Given the description of an element on the screen output the (x, y) to click on. 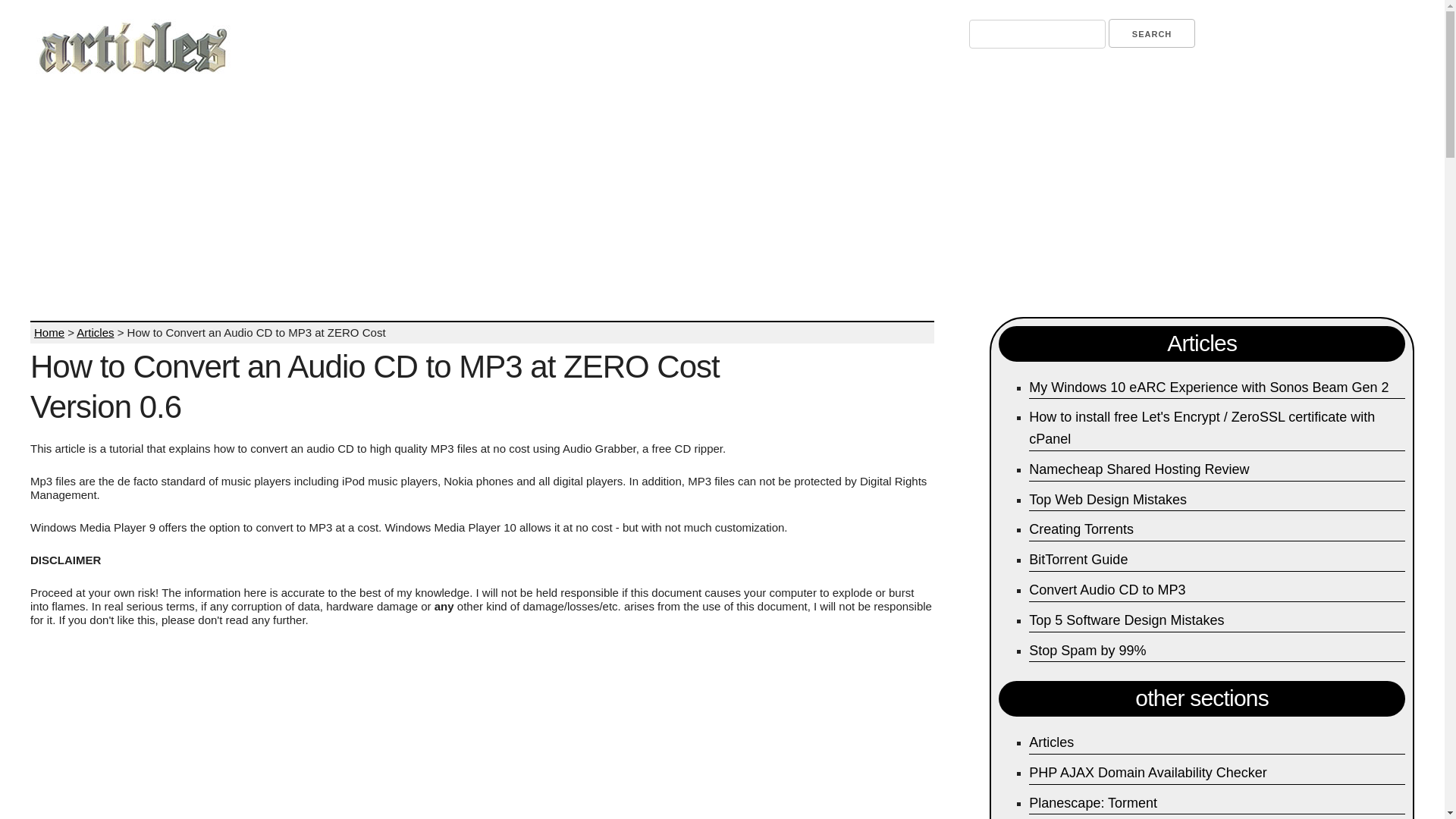
Articles (95, 332)
Search (1151, 32)
Home (48, 332)
Search (1151, 32)
